Given the description of an element on the screen output the (x, y) to click on. 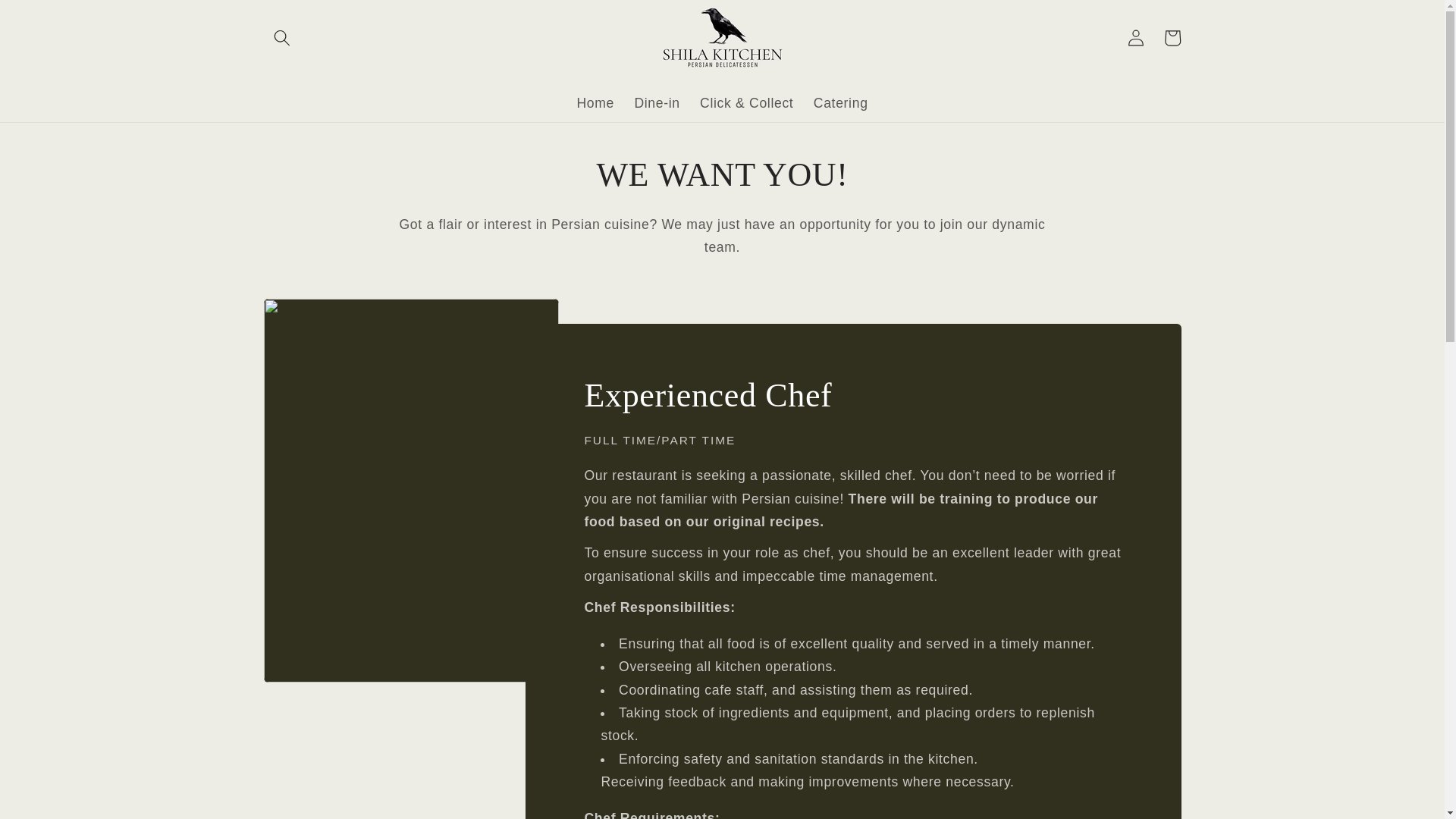
Cart (1172, 37)
Log in (1136, 37)
Skip to content (49, 18)
Catering (840, 103)
Dine-in (657, 103)
Home (595, 103)
